Given the description of an element on the screen output the (x, y) to click on. 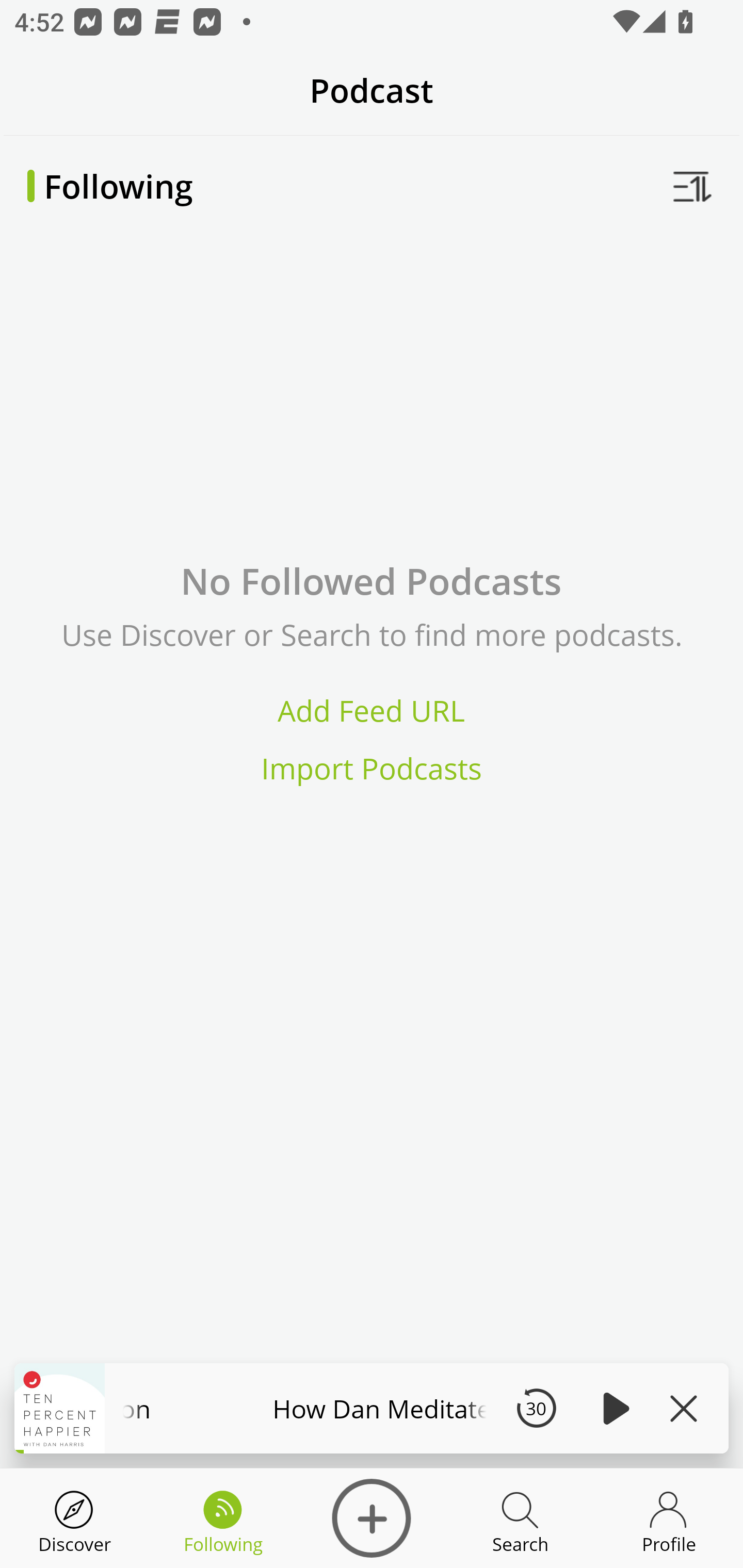
Add Feed URL (371, 709)
Import Podcasts (371, 767)
Play (613, 1407)
30 Seek Backward (536, 1407)
Discover (74, 1518)
Discover (371, 1518)
Discover Search (519, 1518)
Discover Profile (668, 1518)
